Given the description of an element on the screen output the (x, y) to click on. 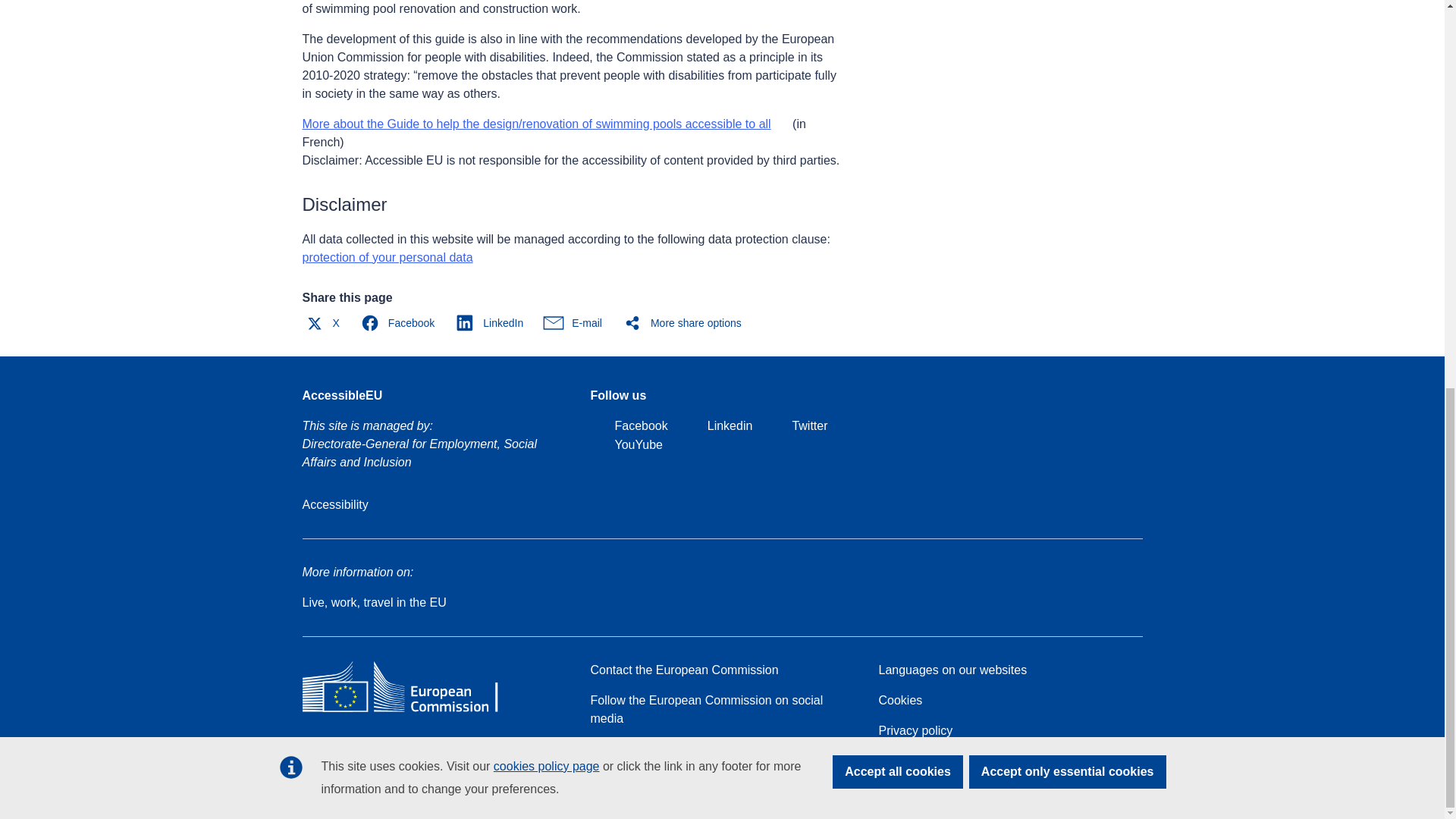
protection of your personal data (386, 256)
E-mail (576, 322)
cookies policy page (546, 29)
X (324, 322)
Accept all cookies (897, 35)
European Commission (411, 711)
Facebook (401, 322)
Accept only essential cookies (1067, 35)
LinkedIn (492, 322)
